Given the description of an element on the screen output the (x, y) to click on. 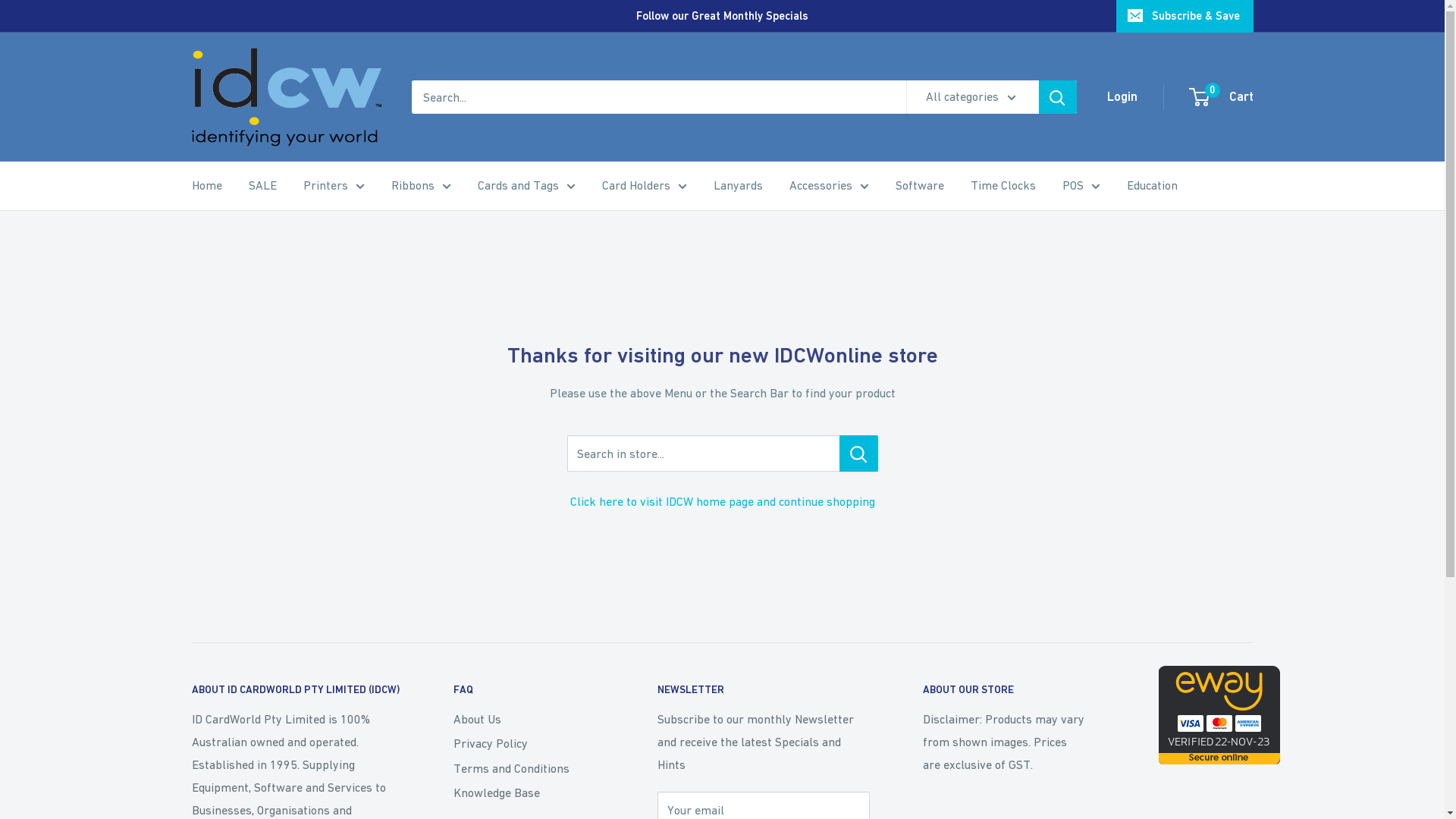
POS Element type: text (1080, 185)
0
Cart Element type: text (1221, 96)
Printers Element type: text (333, 185)
SALE Element type: text (262, 185)
Subscribe & Save Element type: text (1184, 15)
IDCWonline Element type: text (285, 96)
Privacy Policy Element type: text (528, 743)
Software Element type: text (918, 185)
Cards and Tags Element type: text (526, 185)
Terms and Conditions Element type: text (528, 768)
About Us Element type: text (528, 718)
ABOUT ID CARDWORLD PTY LIMITED (IDCW) Element type: text (295, 689)
Ribbons Element type: text (421, 185)
Home Element type: text (206, 185)
FAQ Element type: text (528, 689)
ABOUT OUR STORE Element type: text (1027, 689)
Card Holders Element type: text (644, 185)
Knowledge Base Element type: text (528, 792)
Time Clocks Element type: text (1002, 185)
eWAY Payment Gateway Element type: hover (1219, 676)
Lanyards Element type: text (737, 185)
Education Element type: text (1151, 185)
Accessories Element type: text (828, 185)
Login Element type: text (1122, 96)
Click here to visit IDCW home page and continue shopping Element type: text (722, 501)
